Given the description of an element on the screen output the (x, y) to click on. 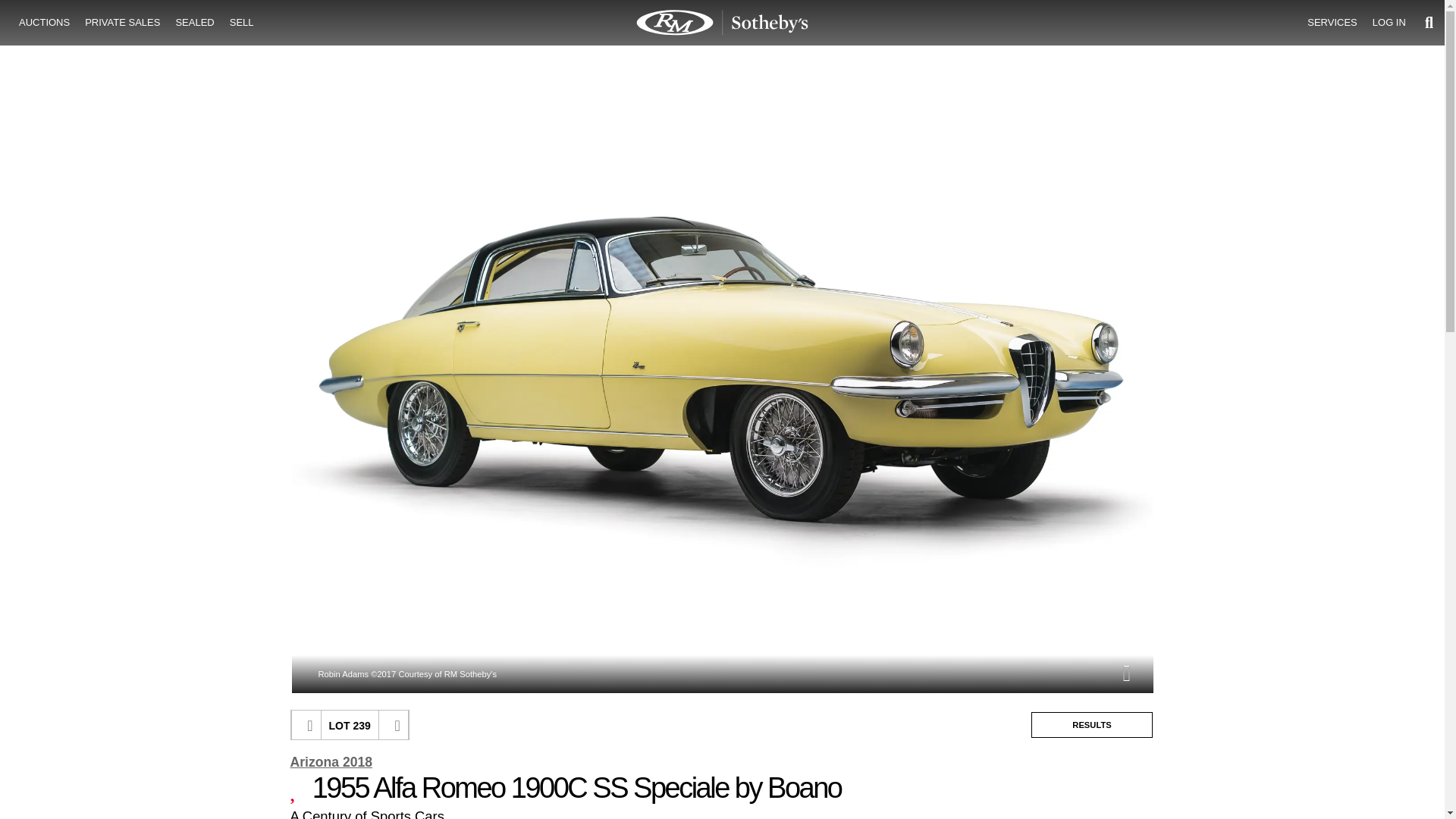
AUCTIONS (44, 22)
PRIVATE SALES (122, 22)
